Given the description of an element on the screen output the (x, y) to click on. 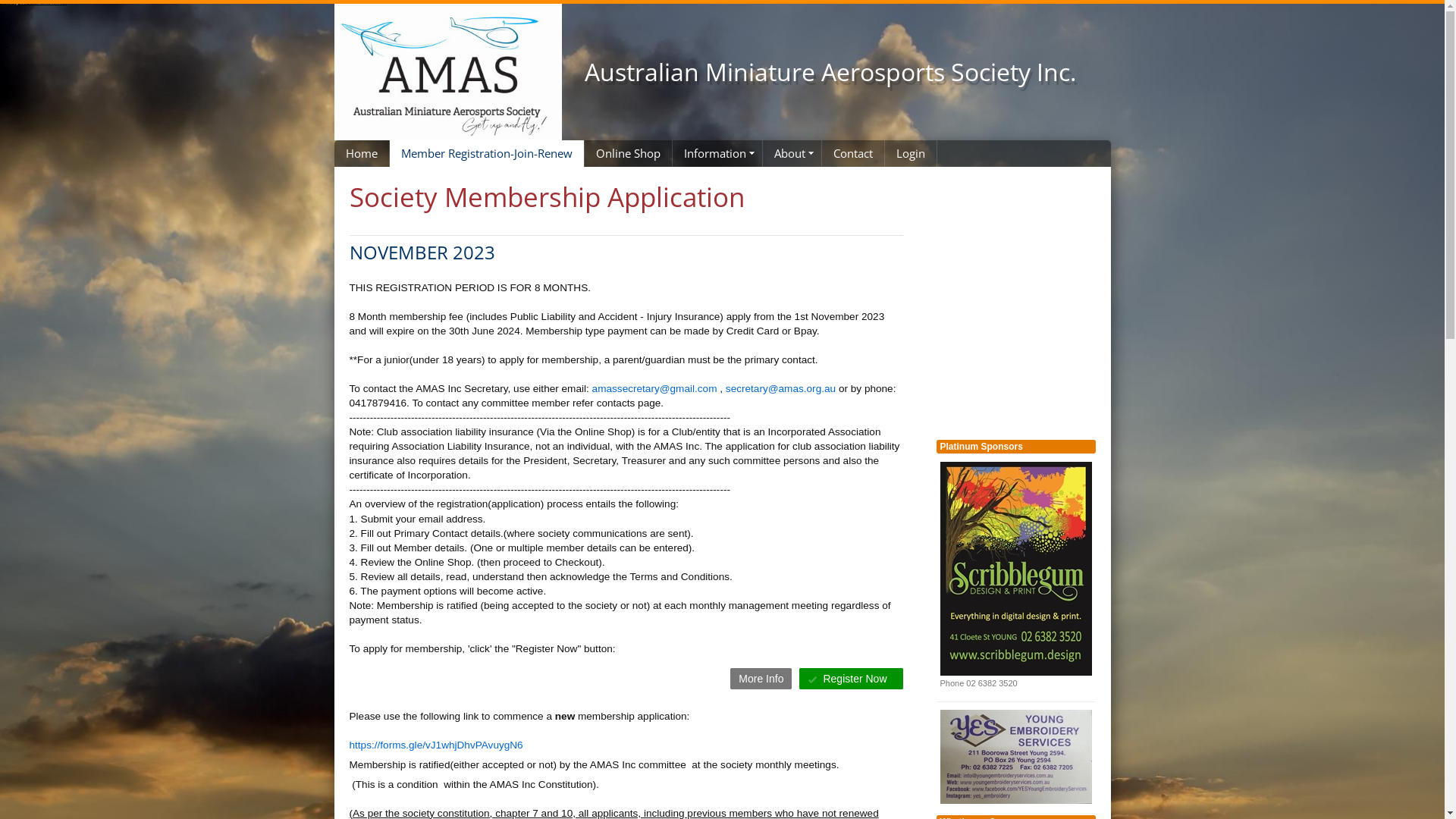
Australian Miniature Aerosports Society Inc. Element type: text (821, 71)
Login Element type: text (909, 153)
Online Shop Element type: text (627, 153)
About Element type: text (791, 153)
Information Element type: text (716, 153)
More Info Element type: text (760, 678)
Register Now Element type: text (850, 678)
Contact Element type: text (853, 153)
amassecretary@gmail.com Element type: text (654, 388)
secretary@amas.org.au Element type: text (780, 388)
https://forms.gle/vJ1whjDhvPAvuygN6 Element type: text (435, 744)
Home Element type: text (360, 153)
Member Registration-Join-Renew Element type: text (486, 153)
